Given the description of an element on the screen output the (x, y) to click on. 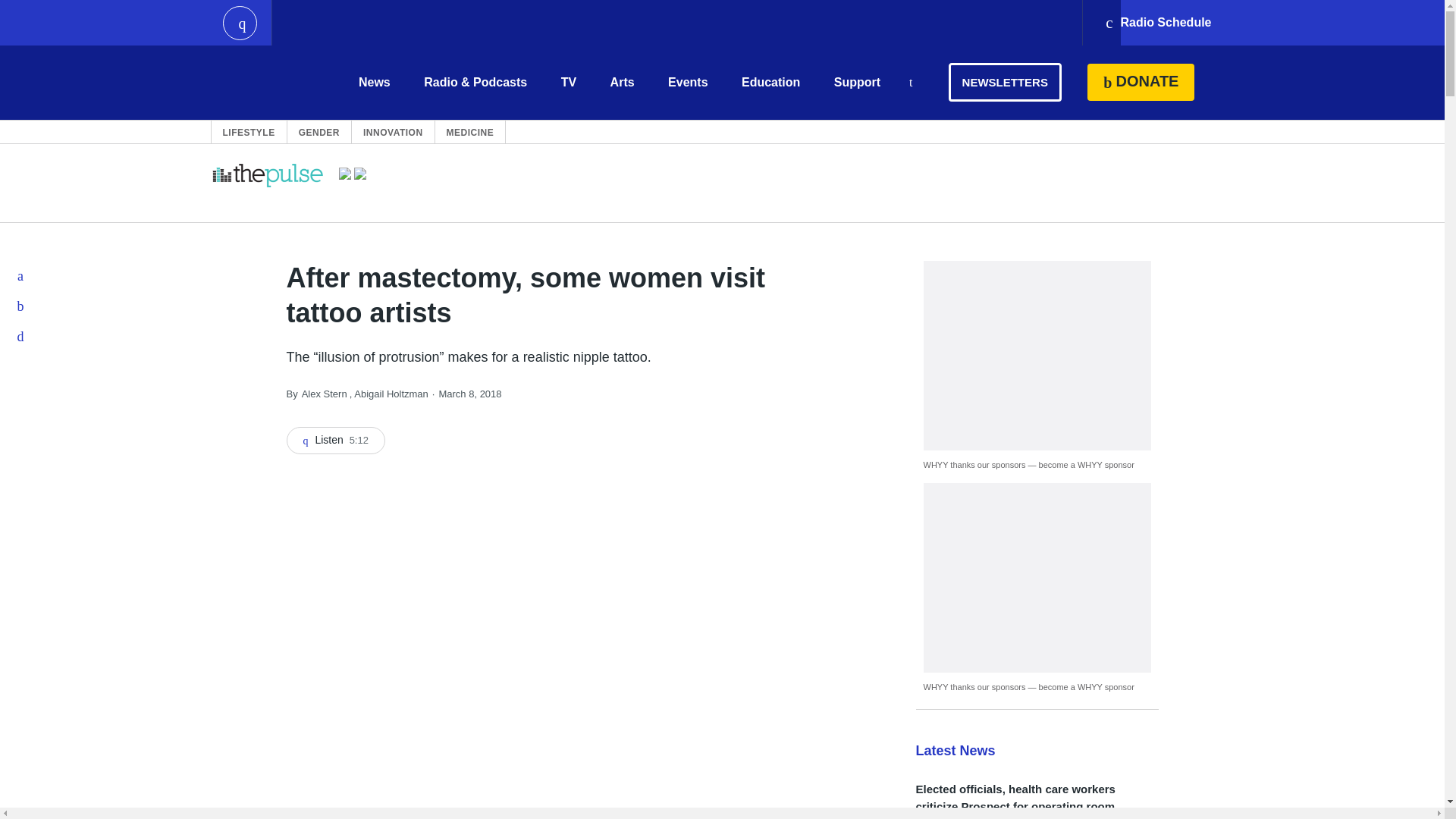
After mastectomy, some women visit tattoo artists (335, 440)
INNOVATION (392, 132)
Radio Schedule (1157, 22)
Facebook (21, 276)
GENDER (318, 132)
MEDICINE (470, 132)
Twitter (21, 306)
Search (910, 83)
Email (21, 336)
WHYY (266, 82)
